Given the description of an element on the screen output the (x, y) to click on. 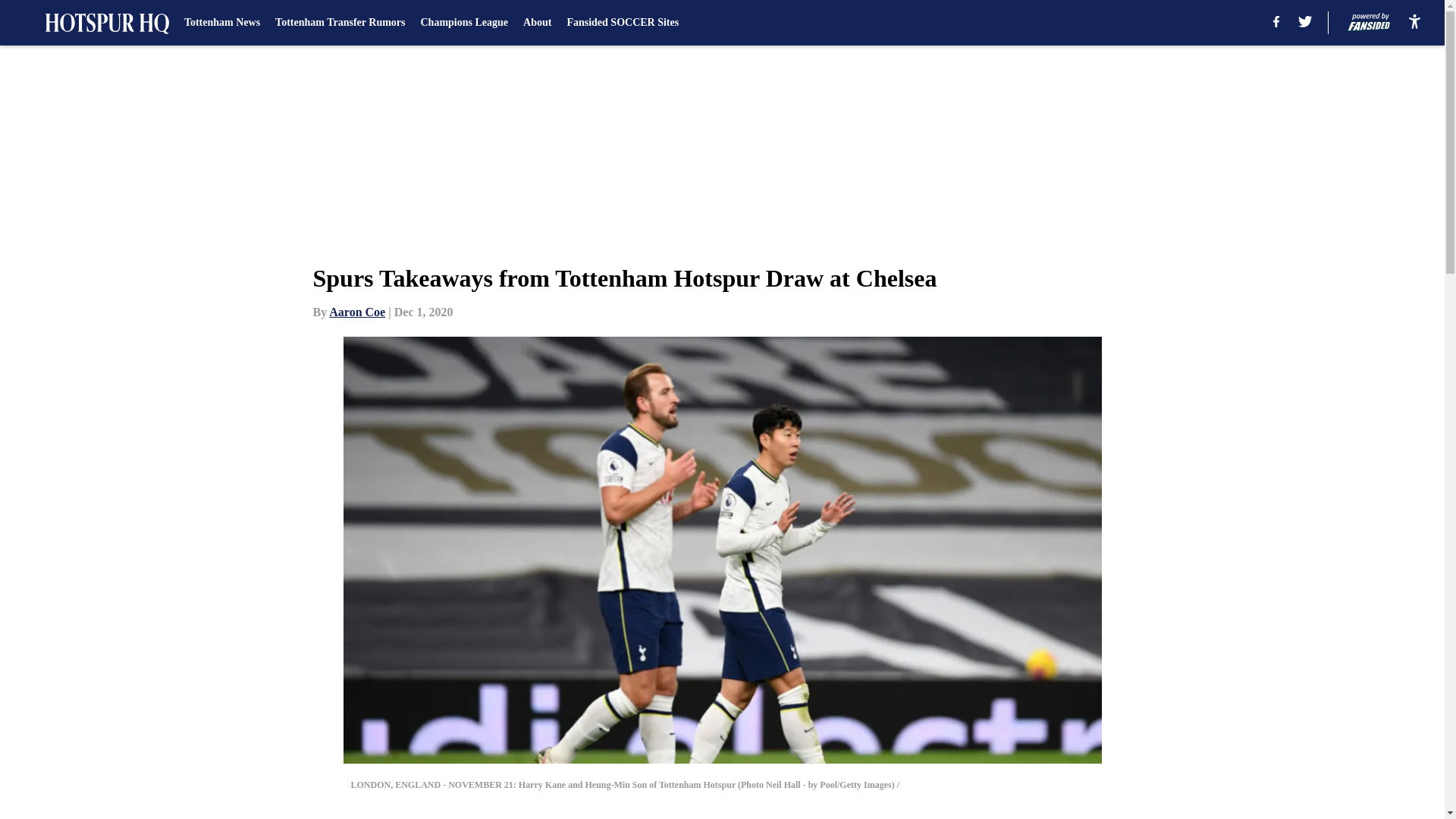
About (536, 22)
Aaron Coe (357, 311)
Tottenham Transfer Rumors (339, 22)
Tottenham News (222, 22)
Champions League (464, 22)
Fansided SOCCER Sites (622, 22)
